Given the description of an element on the screen output the (x, y) to click on. 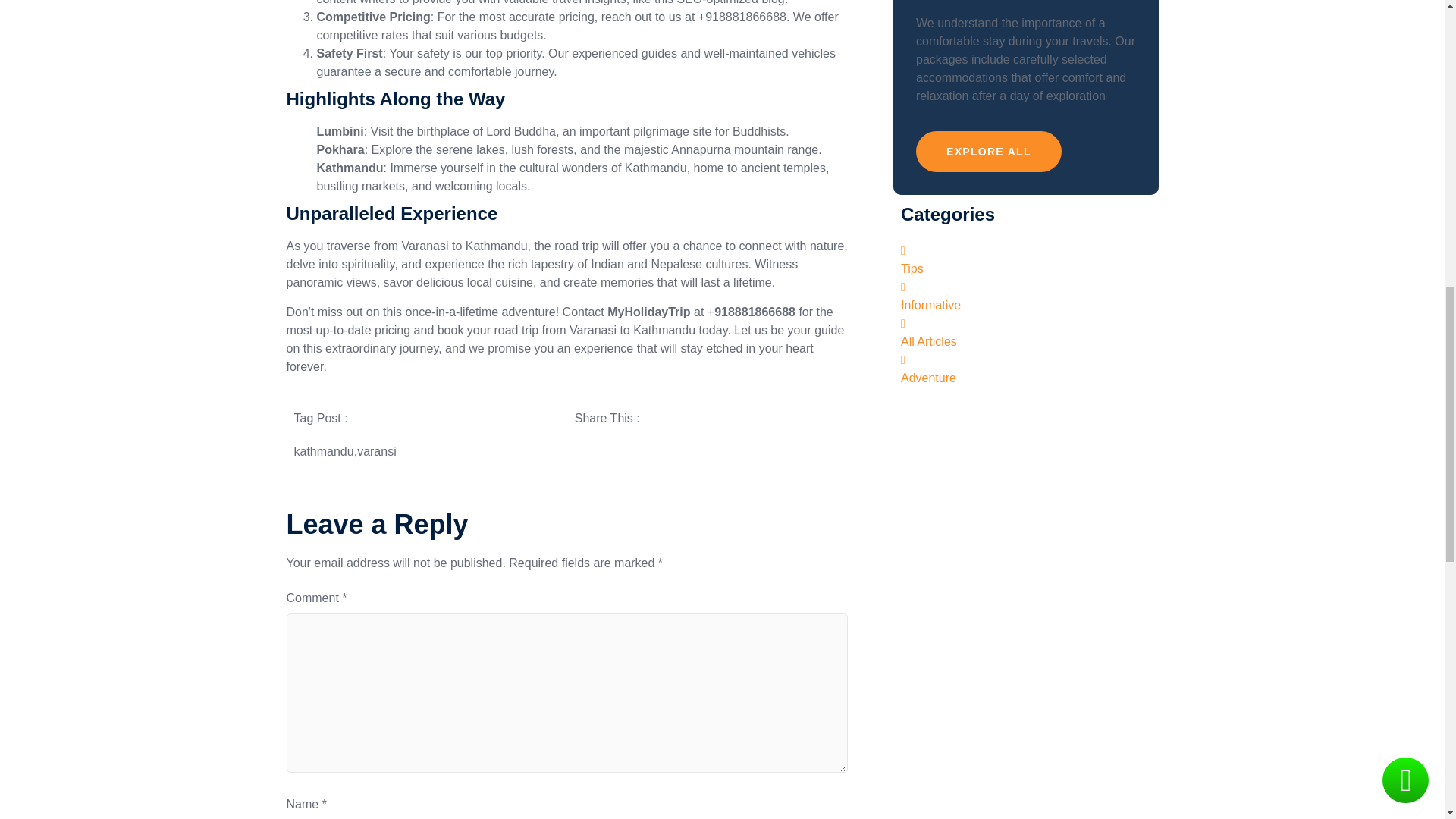
Adventure (1026, 369)
All Articles (1026, 333)
Informative (1026, 297)
Tips (1026, 261)
EXPLORE ALL (988, 151)
